Given the description of an element on the screen output the (x, y) to click on. 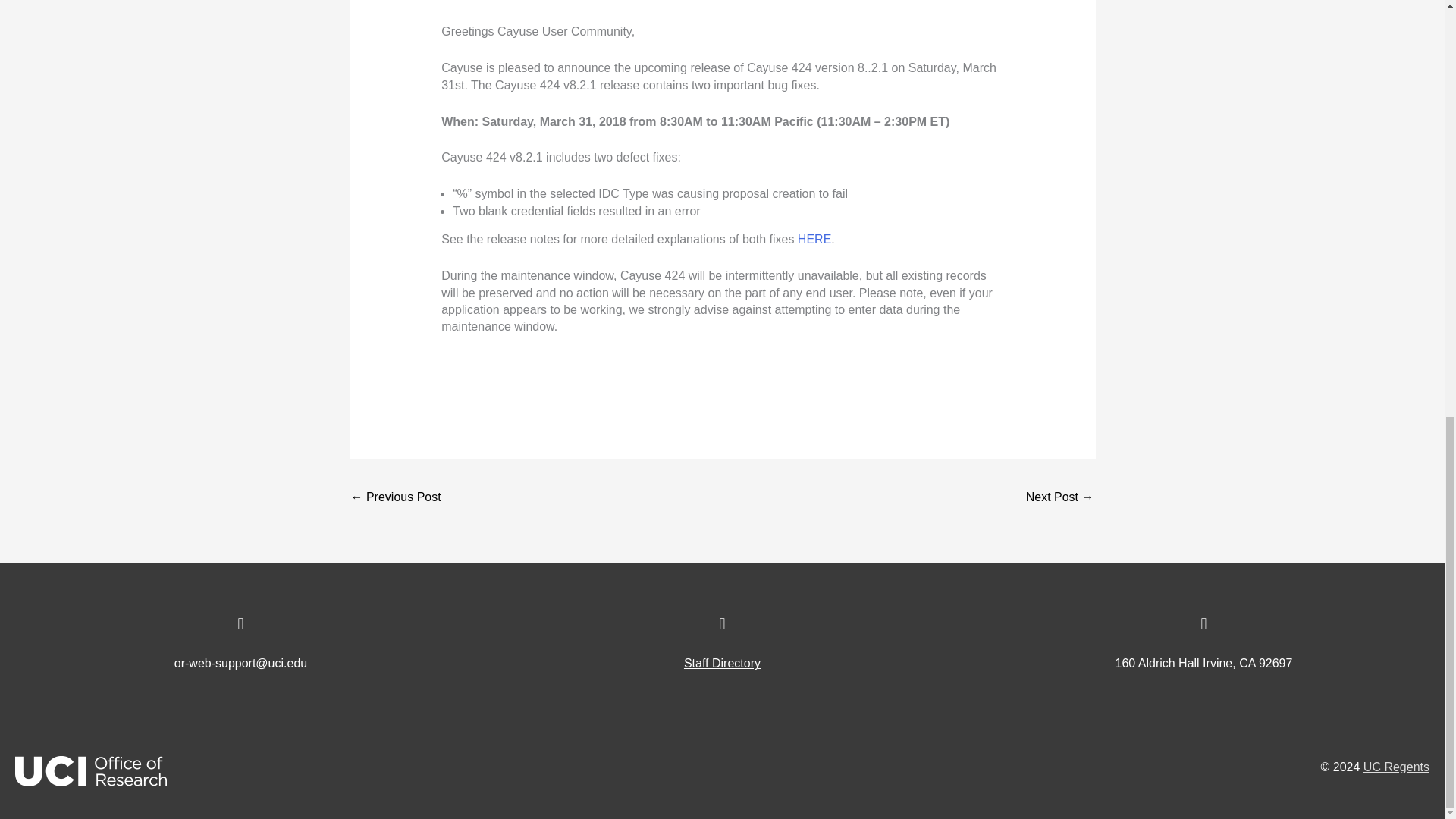
UC Regents (1395, 766)
Staff Directory (722, 662)
HERE (814, 238)
New NSF Account Management System (395, 498)
